Given the description of an element on the screen output the (x, y) to click on. 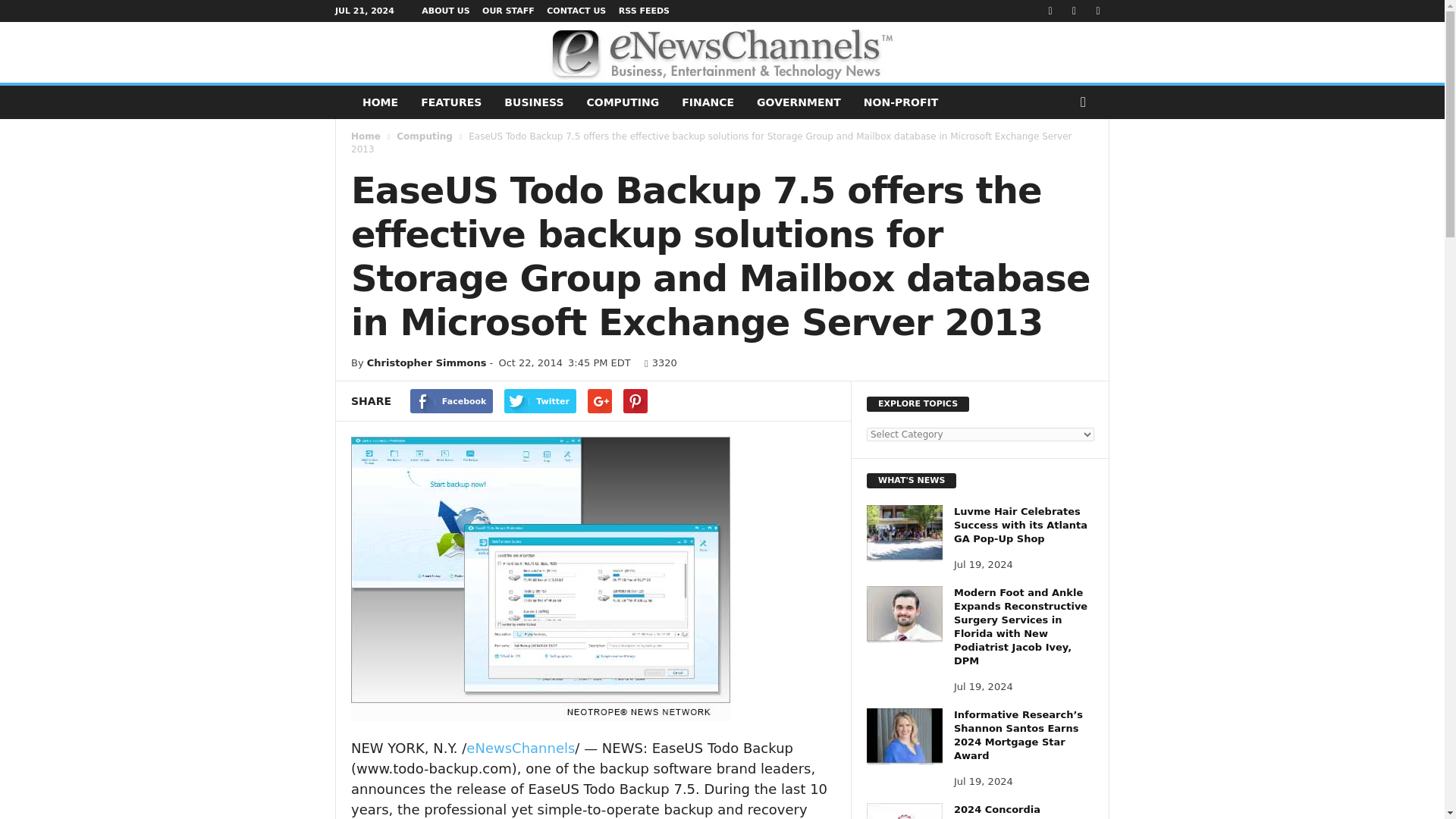
FEATURES (451, 101)
eNewsChannels (520, 747)
View all posts in Computing (424, 136)
GOVERNMENT (798, 101)
Twitter (539, 401)
BUSINESS (534, 101)
Home (365, 136)
RSS FEEDS (643, 10)
Computing (424, 136)
Facebook (451, 401)
Christopher Simmons (426, 362)
OUR STAFF (507, 10)
